Given the description of an element on the screen output the (x, y) to click on. 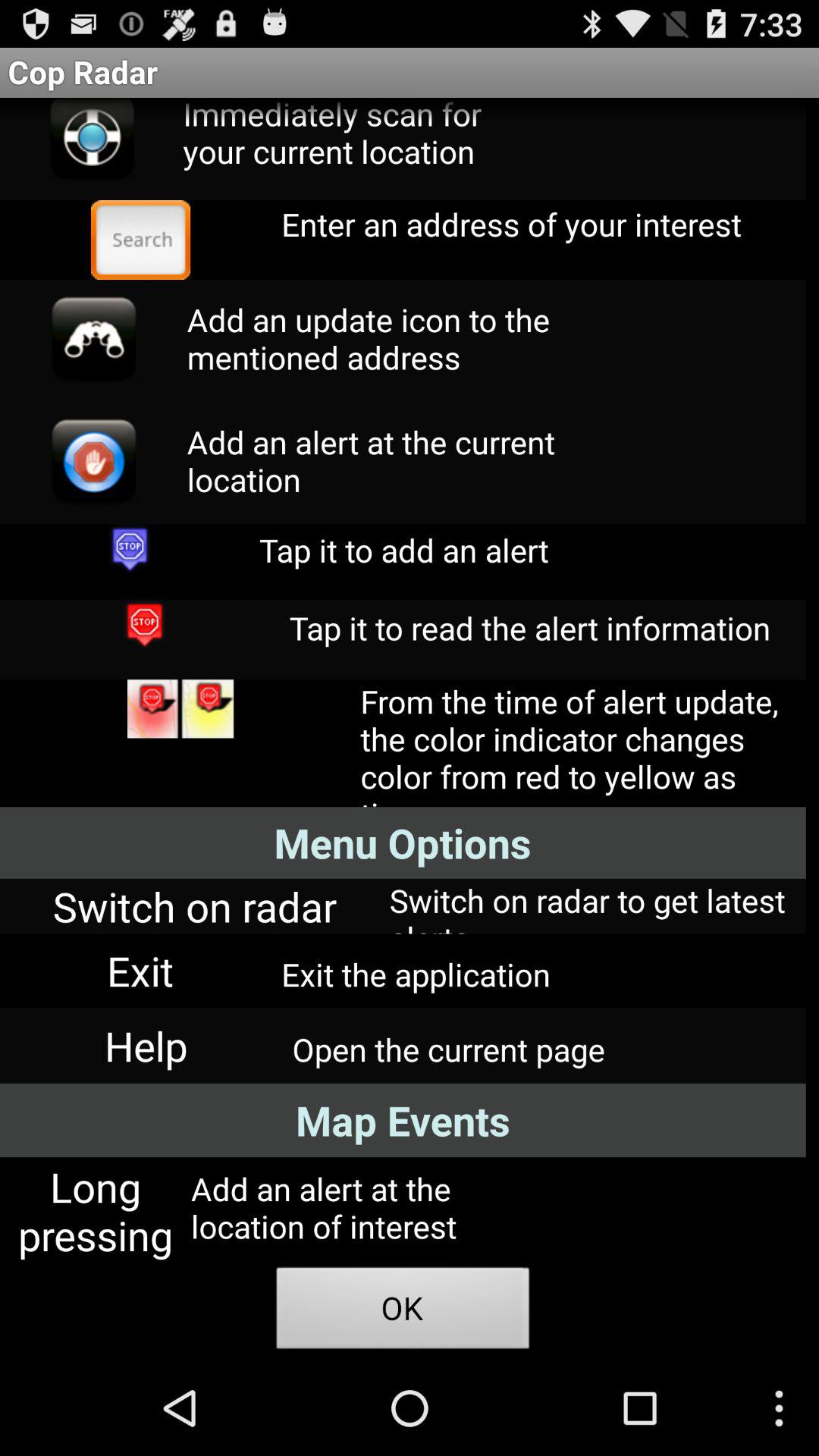
turn on item below add an alert icon (403, 1312)
